Given the description of an element on the screen output the (x, y) to click on. 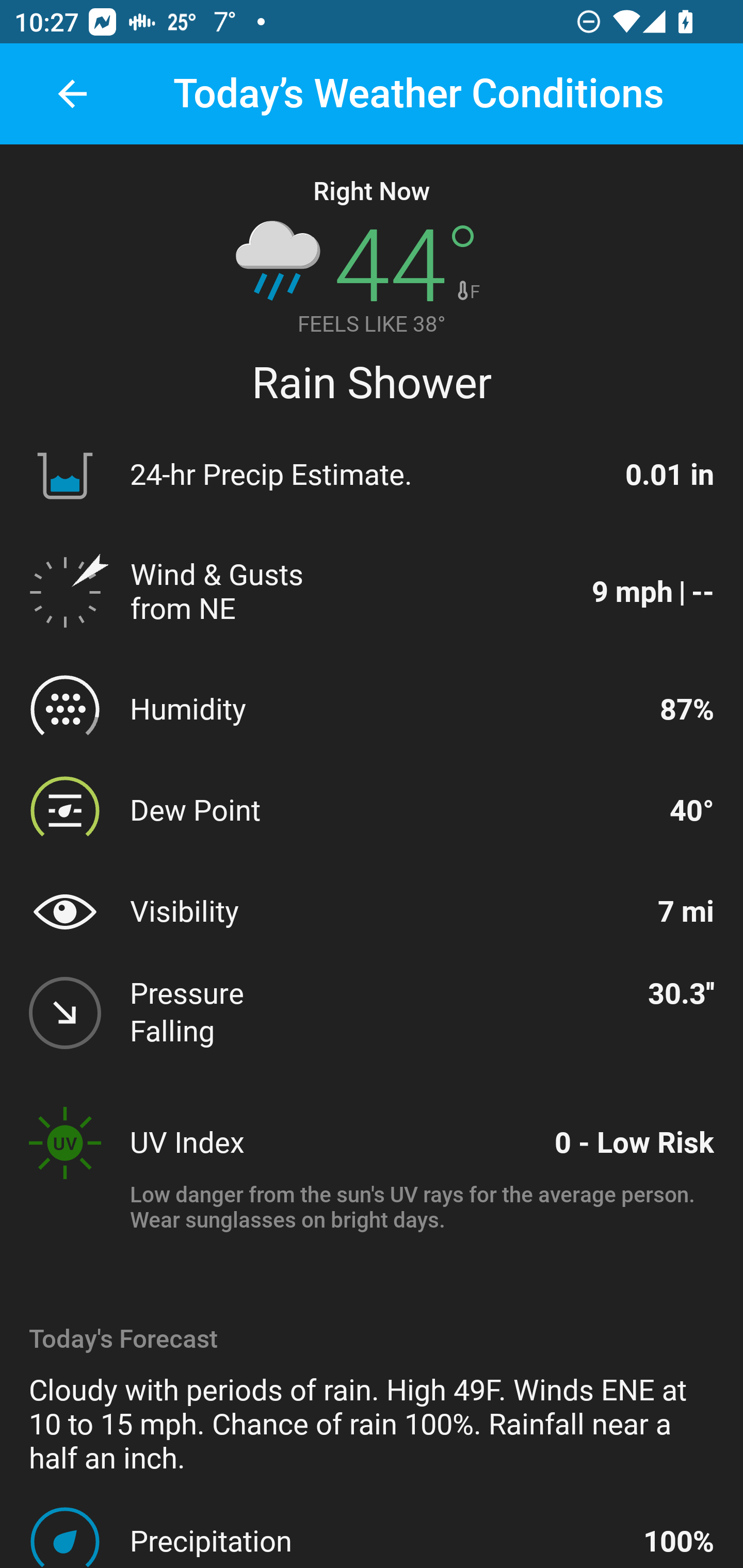
back (71, 93)
Precipitation (377, 1541)
100% (678, 1541)
